Given the description of an element on the screen output the (x, y) to click on. 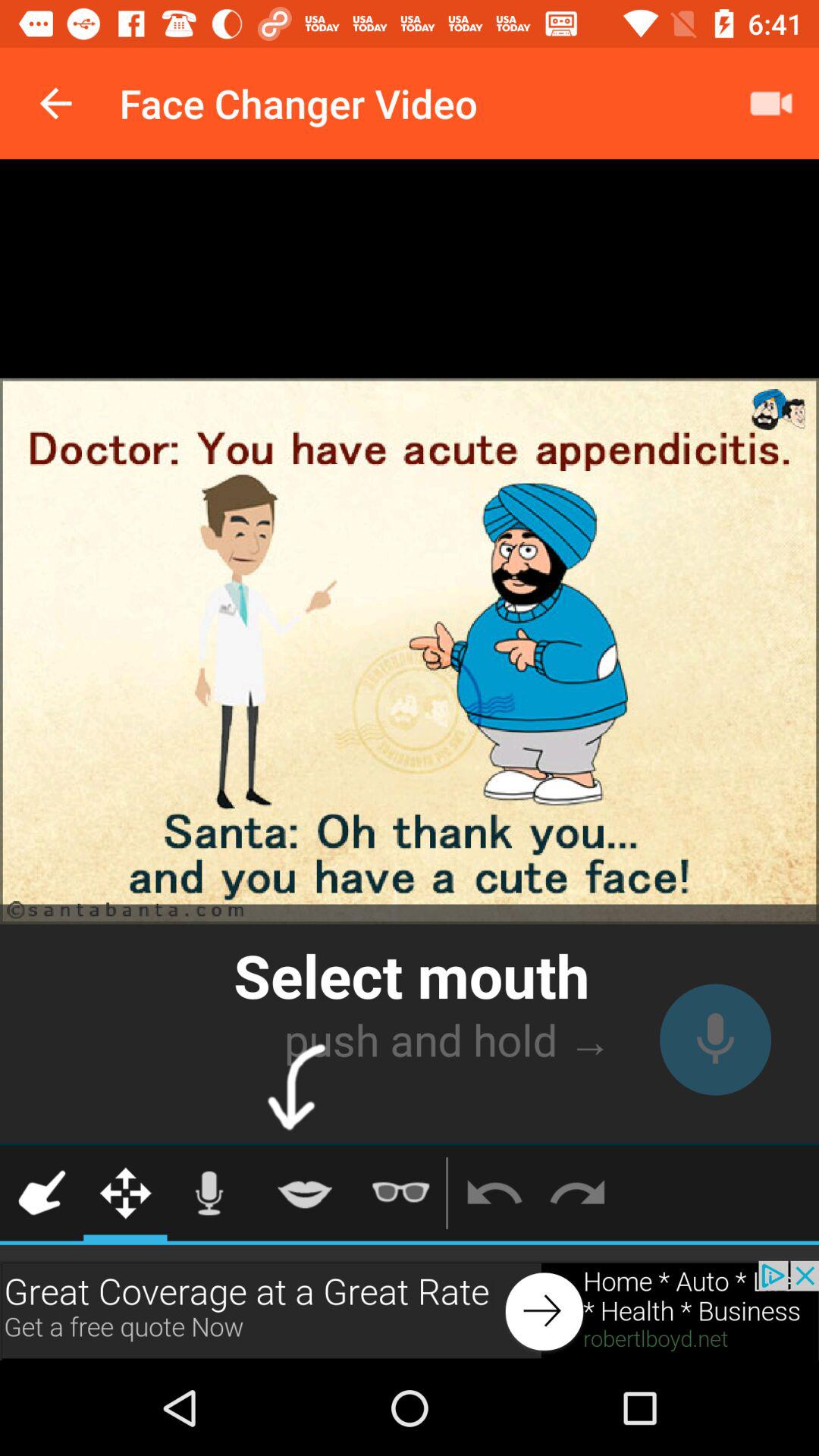
advertisement page (409, 1310)
